Given the description of an element on the screen output the (x, y) to click on. 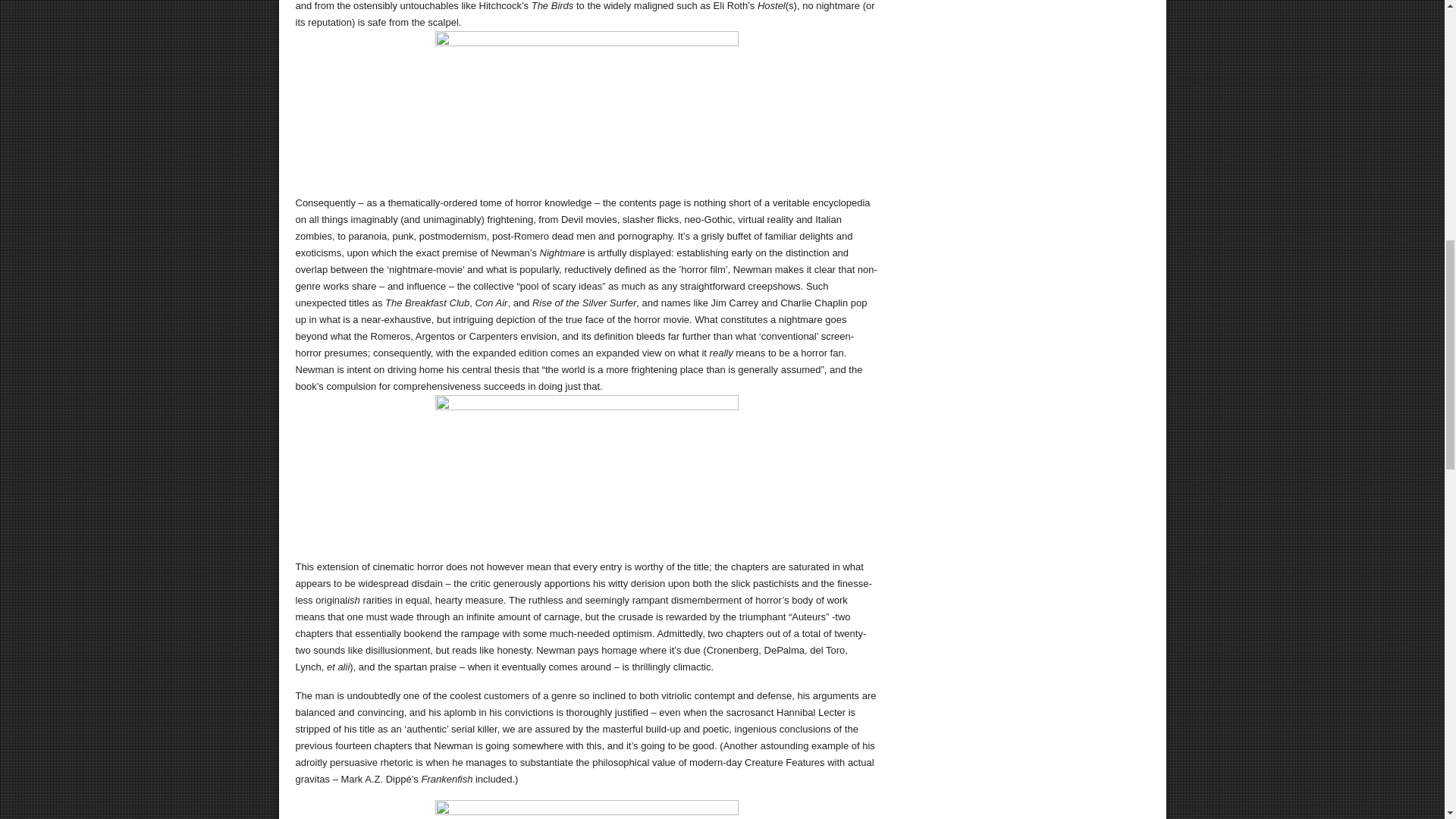
Scanners (586, 470)
Hostel (586, 106)
Piranha 3D (586, 809)
